Given the description of an element on the screen output the (x, y) to click on. 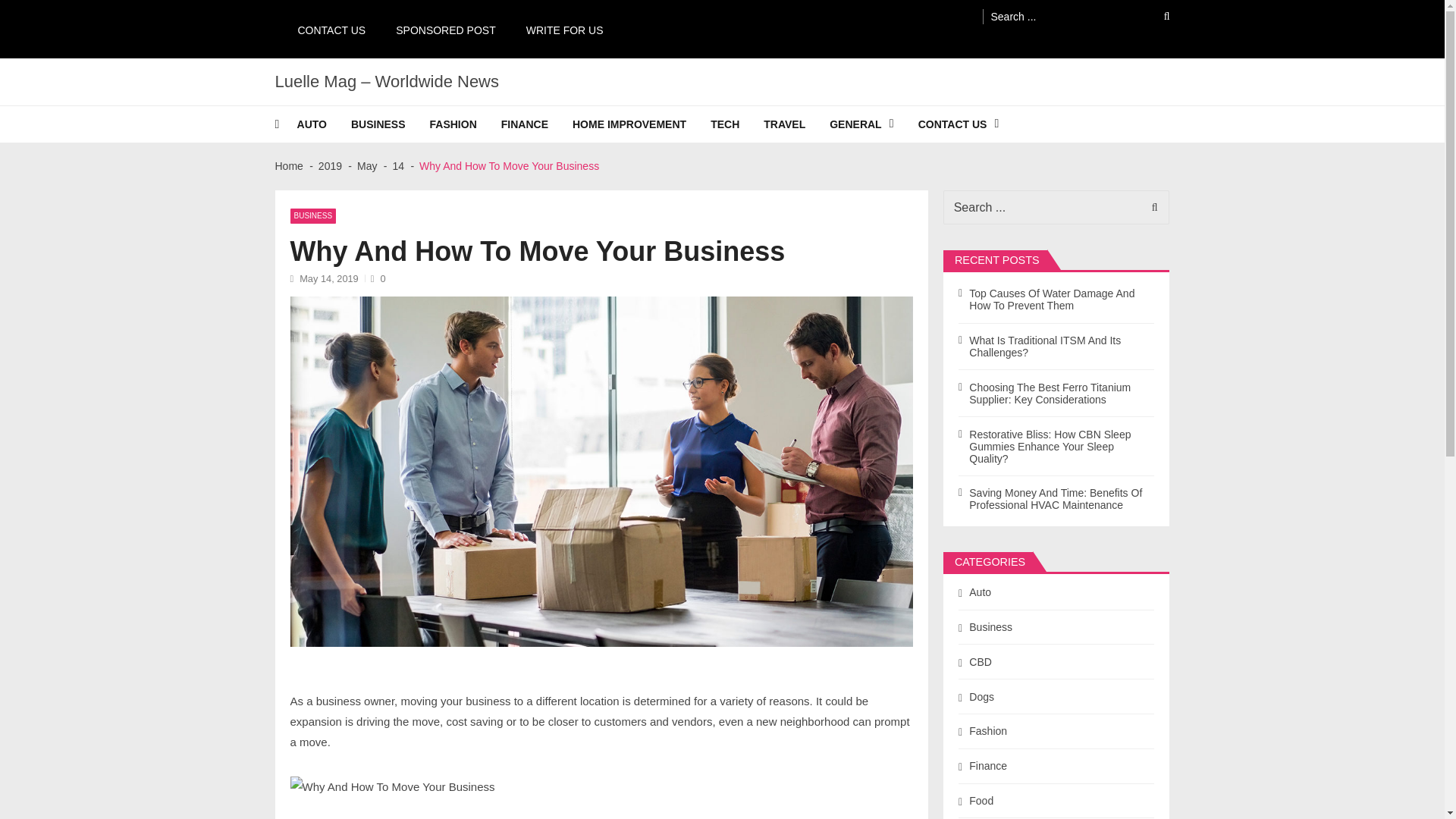
Search (1156, 15)
FINANCE (536, 124)
TRAVEL (795, 124)
TECH (736, 124)
Home (288, 165)
BUSINESS (389, 124)
HOME IMPROVEMENT (641, 124)
SPONSORED POST (437, 29)
WRITE FOR US (557, 29)
Search (1156, 15)
CONTACT US (323, 29)
GENERAL (873, 124)
AUTO (323, 124)
Search (1150, 207)
Search (1150, 207)
